Given the description of an element on the screen output the (x, y) to click on. 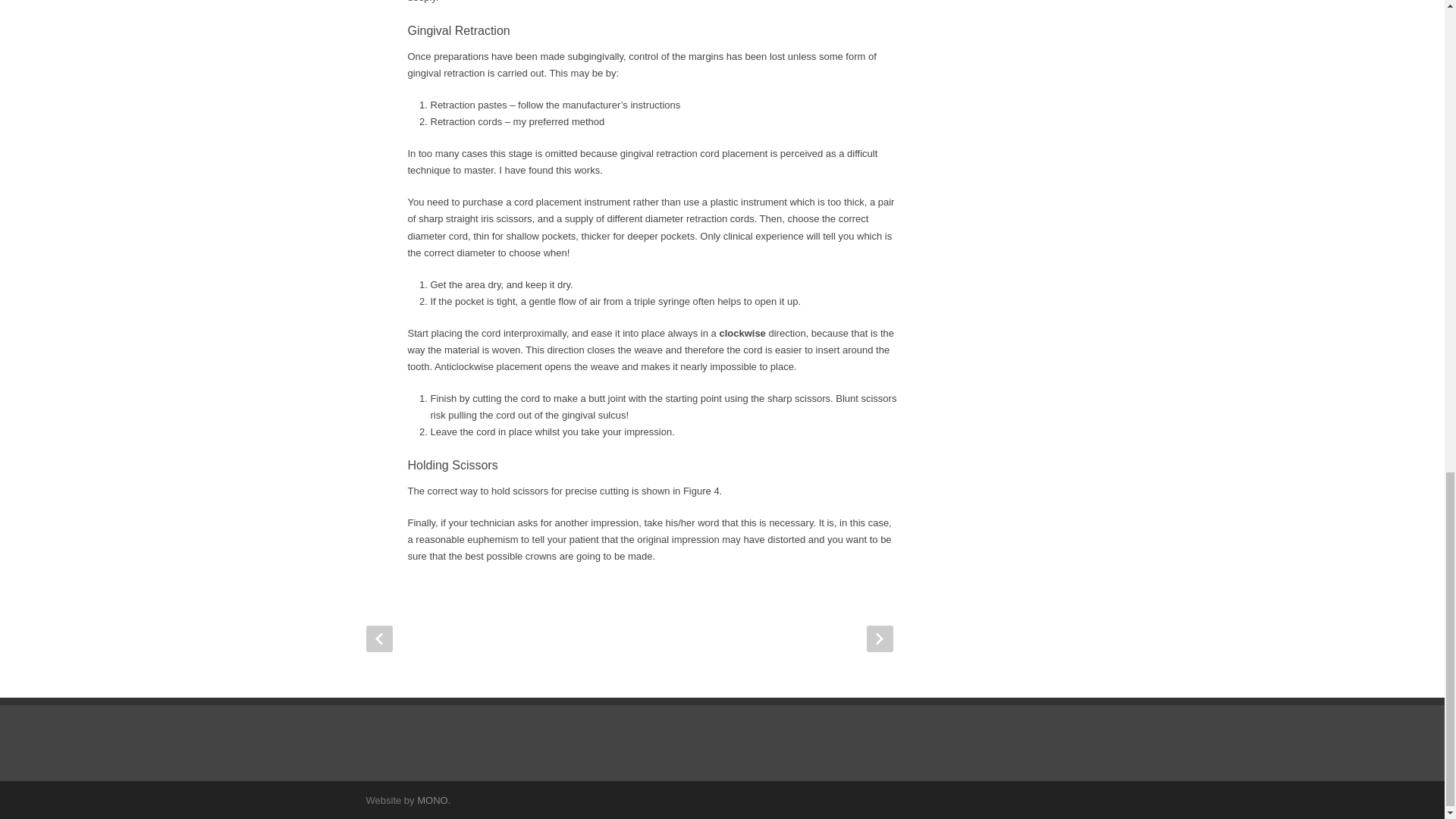
Prev Post (378, 638)
Next Post (879, 638)
